Given the description of an element on the screen output the (x, y) to click on. 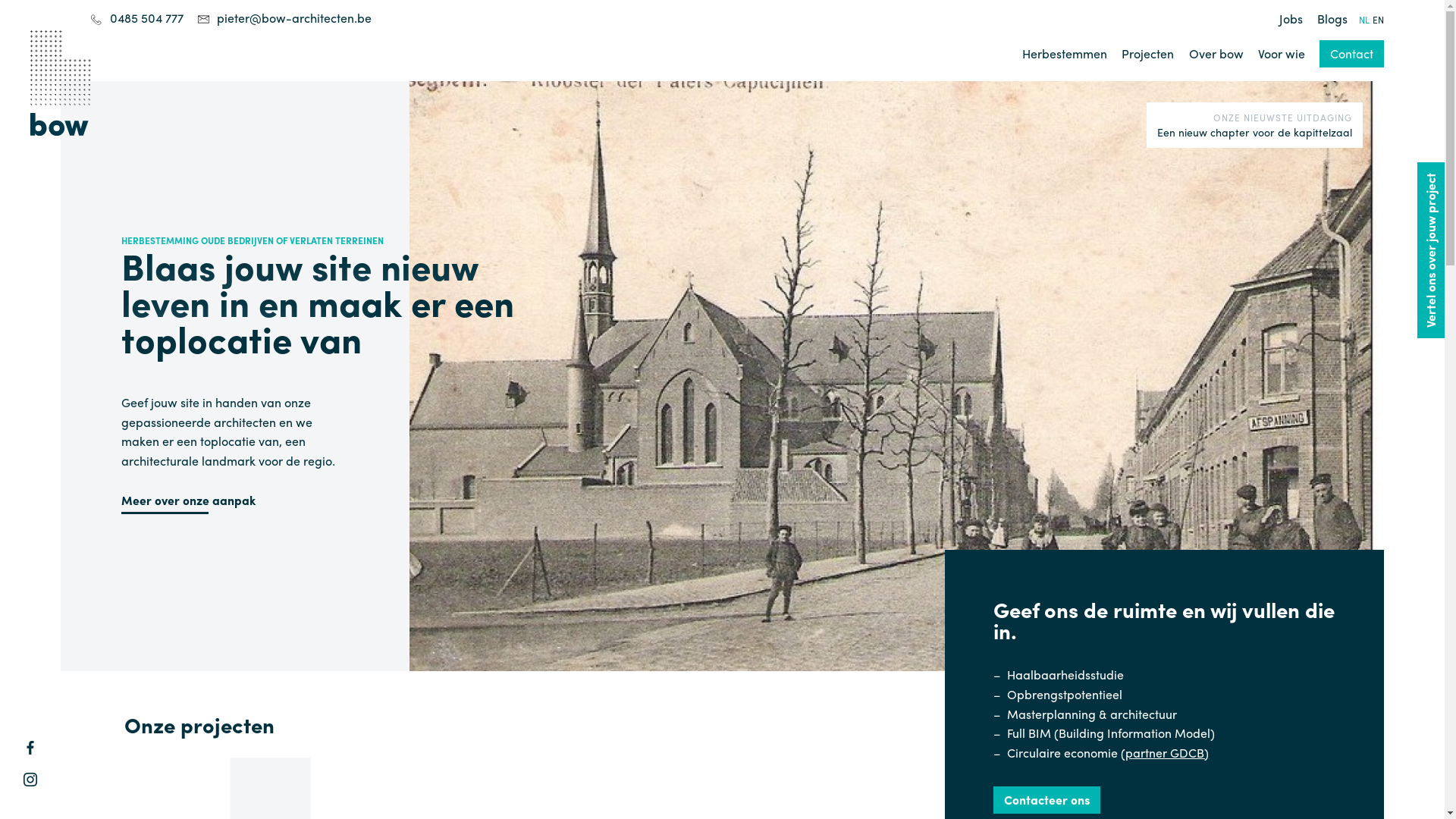
Meer over onze aanpak Element type: text (188, 500)
Jobs Element type: text (1290, 18)
Projecten Element type: text (1147, 53)
Herbestemmen Element type: text (1064, 53)
Contact Element type: text (1351, 53)
(partner GDCB) Element type: text (1164, 752)
Facebook Element type: hover (30, 747)
Instagram Element type: hover (30, 779)
EN Element type: text (1377, 19)
Over bow Element type: text (1216, 53)
pieter@bow-architecten.be Element type: text (293, 17)
NL Element type: text (1363, 19)
Contacteer ons Element type: text (1046, 799)
0485 504 777 Element type: text (146, 17)
Voor wie Element type: text (1281, 53)
Blogs Element type: text (1332, 18)
